Given the description of an element on the screen output the (x, y) to click on. 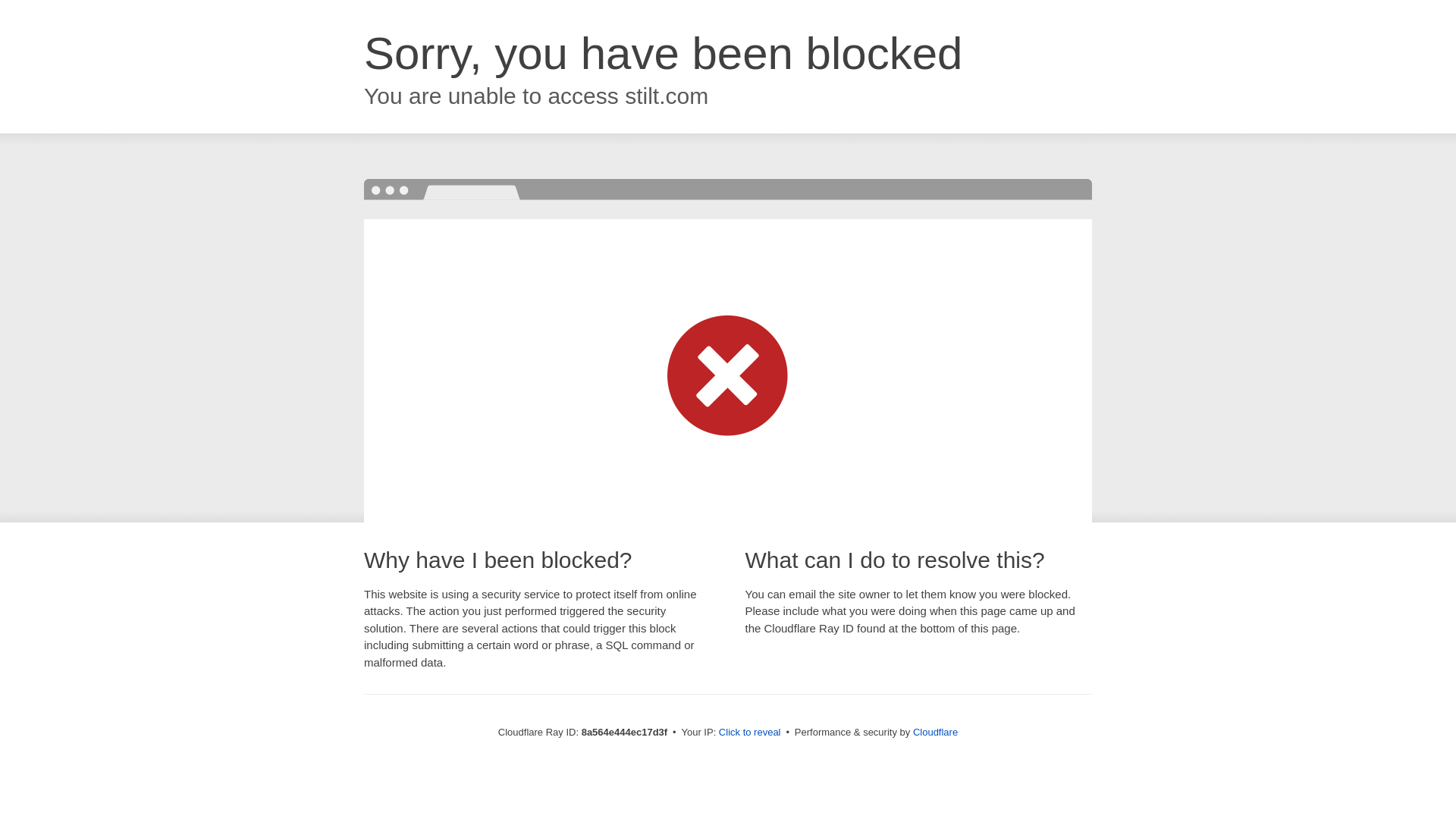
Cloudflare (935, 731)
Click to reveal (749, 732)
